Given the description of an element on the screen output the (x, y) to click on. 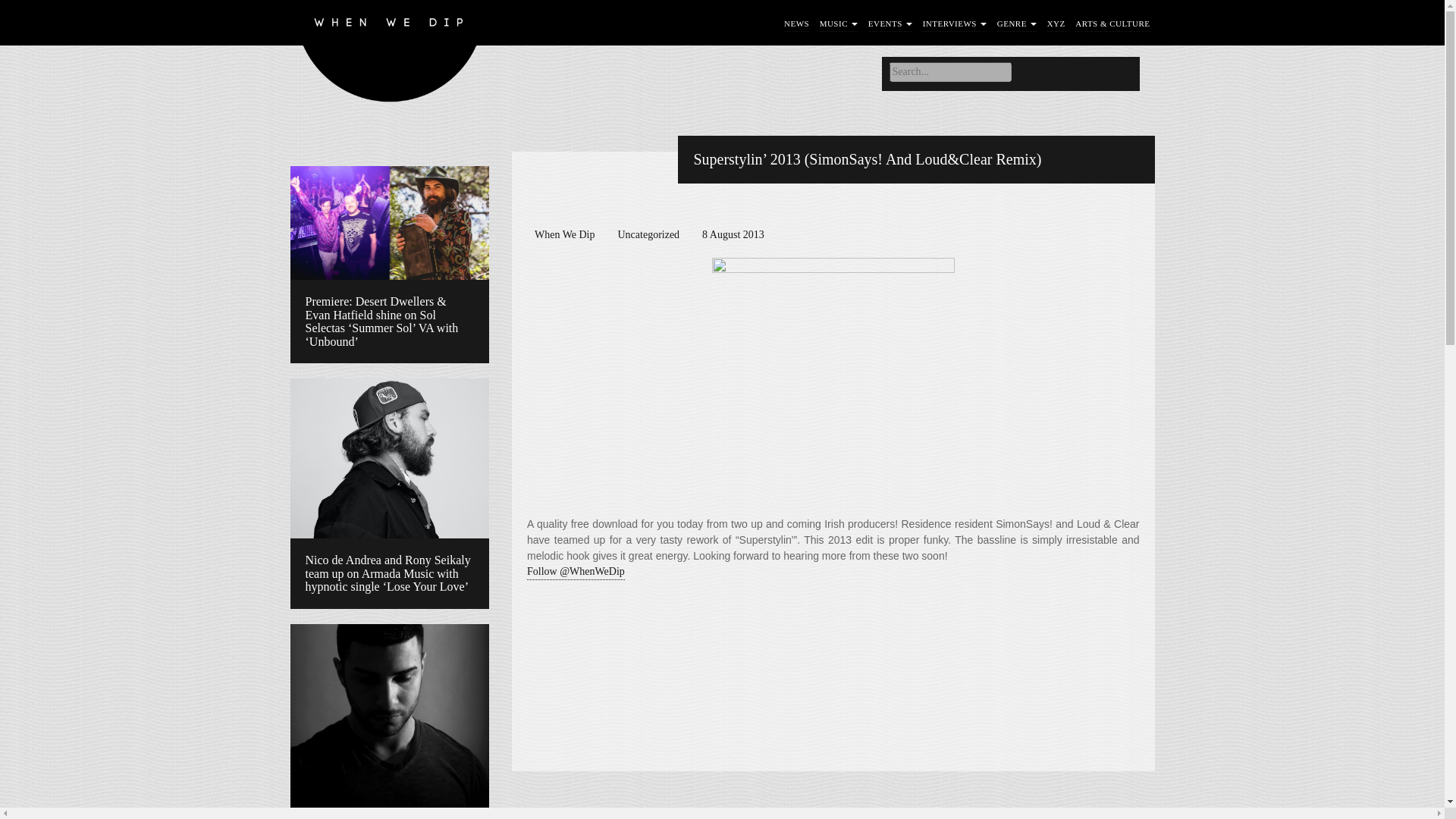
When We Dip (389, 54)
MUSIC (839, 23)
Music (839, 23)
XYZ (1055, 23)
INTERVIEWS (955, 23)
News (796, 23)
Interviews (955, 23)
Events (889, 23)
GENRE (1016, 23)
NEWS (796, 23)
When We Dip (389, 54)
EVENTS (889, 23)
